Given the description of an element on the screen output the (x, y) to click on. 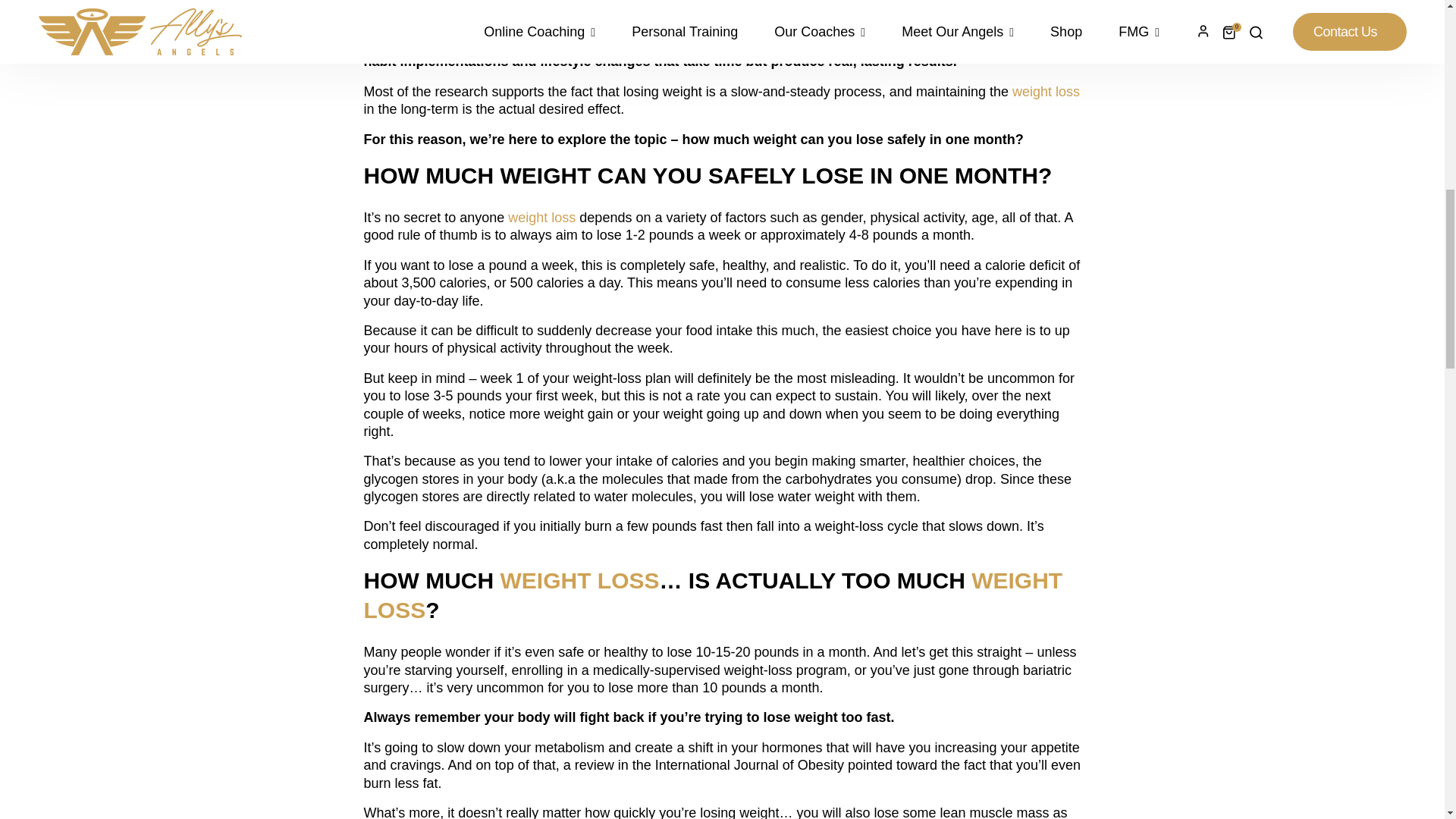
weight loss (541, 217)
weight loss (1045, 91)
weight loss (664, 43)
